Given the description of an element on the screen output the (x, y) to click on. 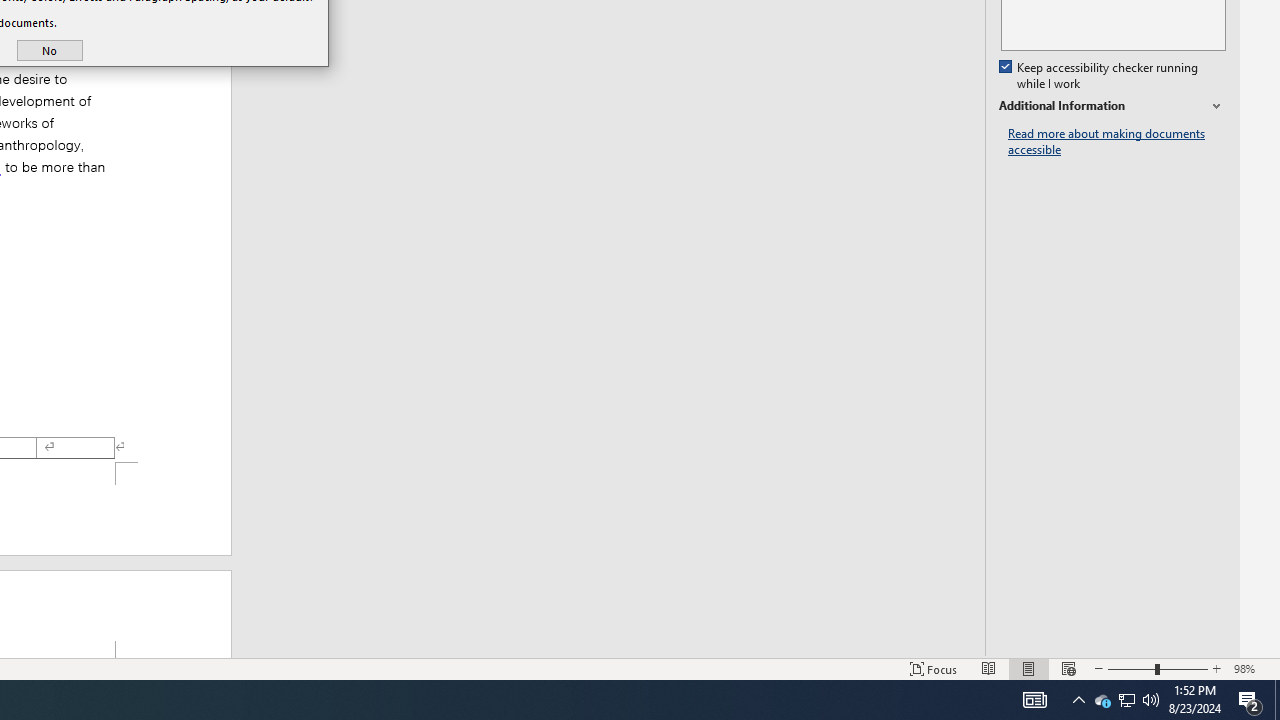
Keep accessibility checker running while I work (1099, 76)
